Given the description of an element on the screen output the (x, y) to click on. 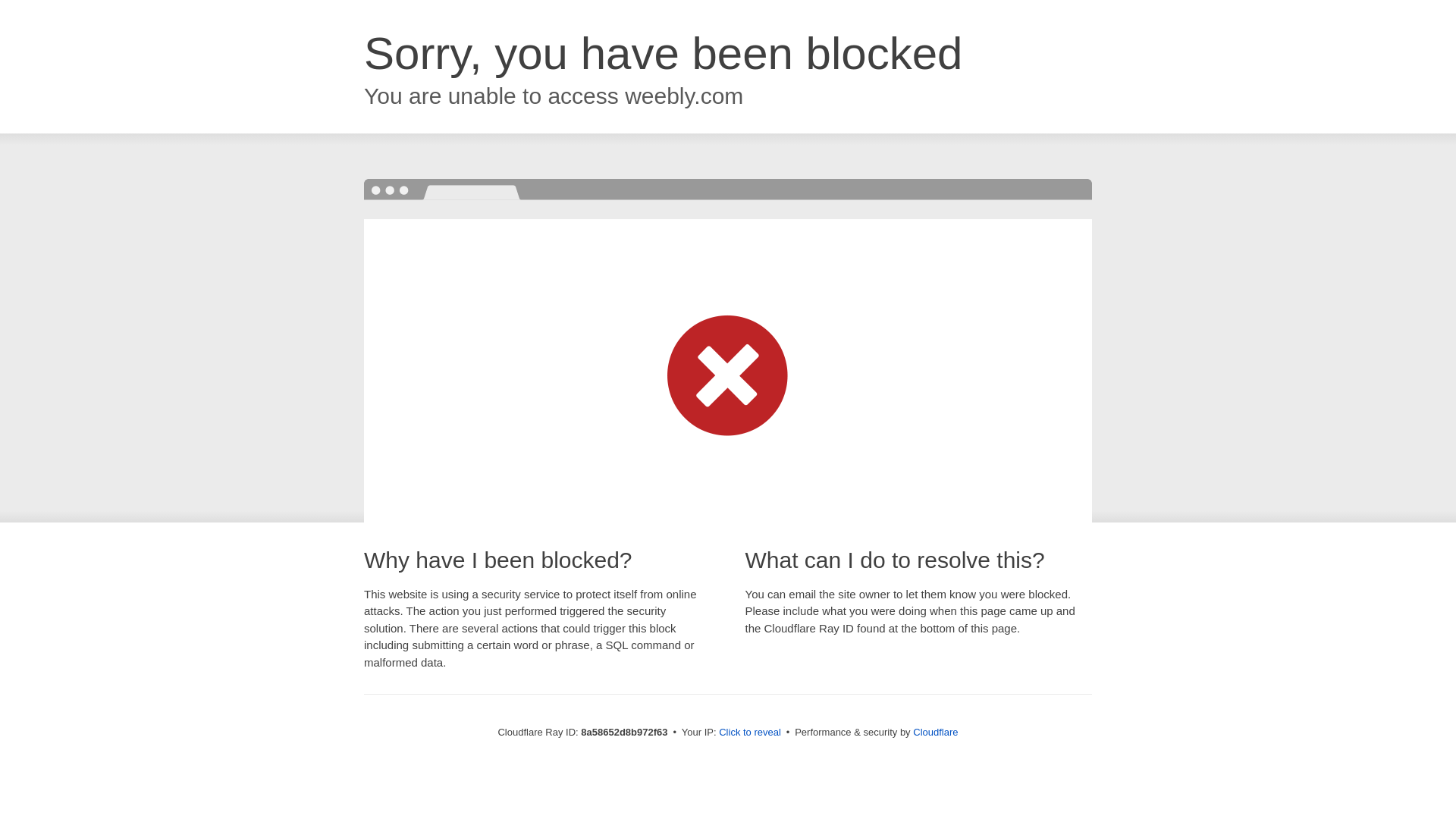
Cloudflare (935, 731)
Click to reveal (749, 732)
